Given the description of an element on the screen output the (x, y) to click on. 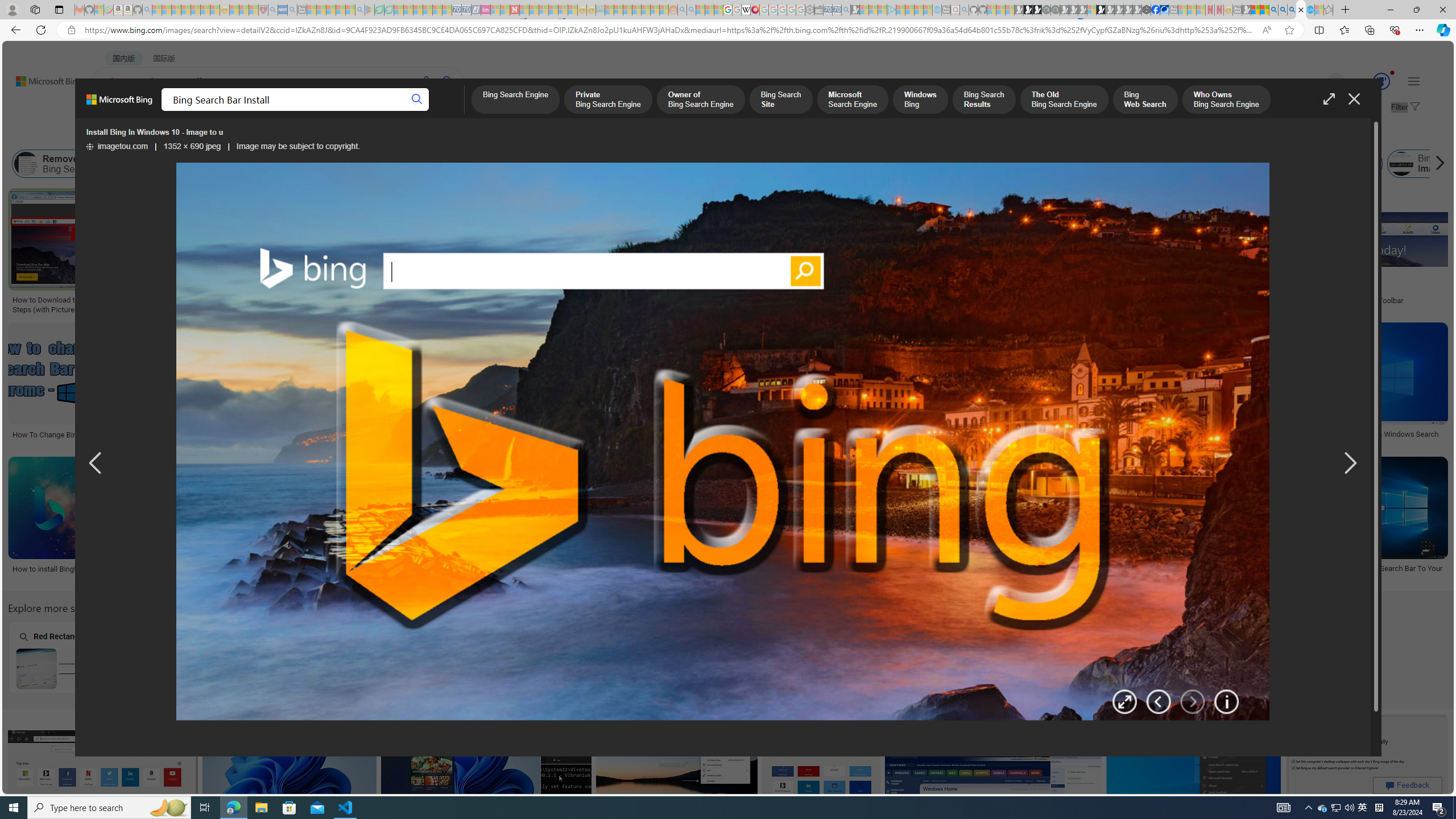
Bing Search Bar Enter Key (370, 668)
How to install Bing! (44, 568)
Install Bing Search Engine (543, 163)
WEB (114, 111)
Bing Search Bar App (941, 163)
How to Use Bing Visual Search on Windows Search Bar (436, 573)
